Given the description of an element on the screen output the (x, y) to click on. 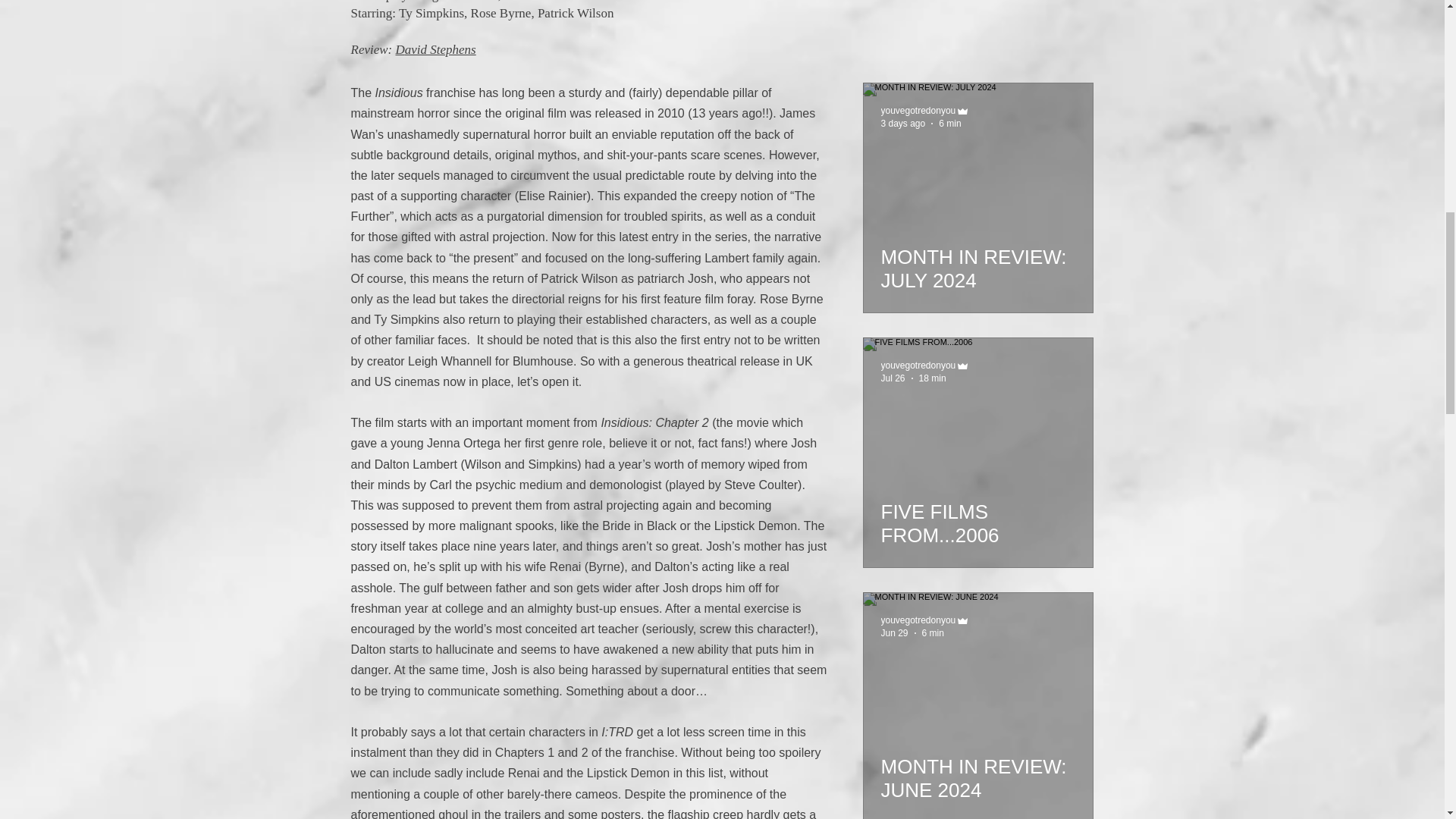
youvegotredonyou (918, 110)
FIVE FILMS FROM...2006 (977, 516)
youvegotredonyou (918, 620)
avid Stephens (440, 49)
18 min (932, 378)
Jul 26 (892, 378)
6 min (949, 122)
MONTH IN REVIEW: JULY 2024 (977, 261)
6 min (932, 633)
3 days ago (903, 122)
MONTH IN REVIEW: JUNE 2024 (977, 772)
Jun 29 (894, 633)
youvegotredonyou (918, 365)
